Given the description of an element on the screen output the (x, y) to click on. 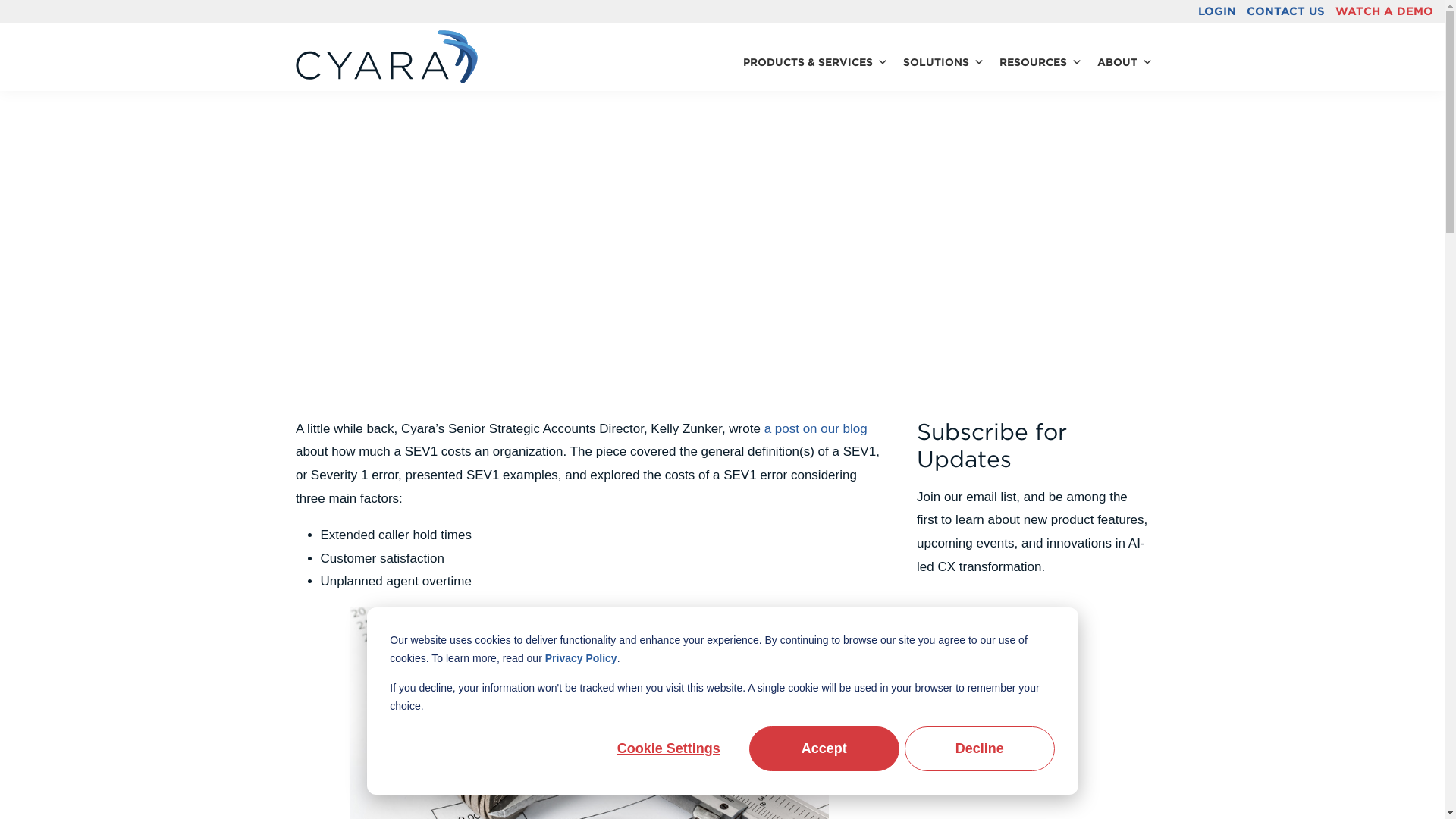
CONTACT US (1285, 11)
Blog (302, 158)
WATCH A DEMO (1384, 11)
SOLUTIONS (943, 62)
LOGIN (1216, 11)
CX Assurance (367, 158)
